Given the description of an element on the screen output the (x, y) to click on. 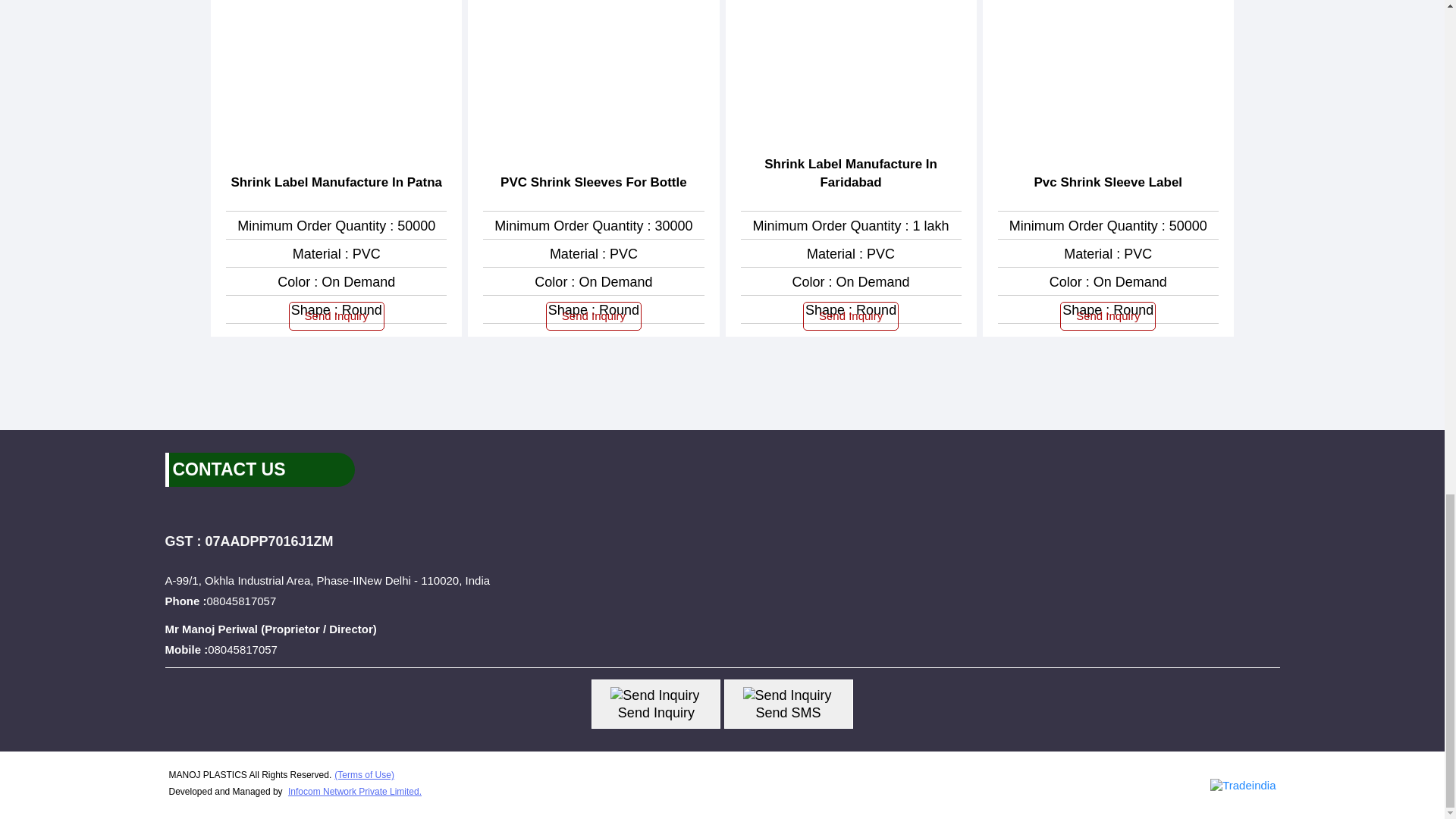
Send Inquiry (654, 695)
Send Inquiry (786, 695)
